Given the description of an element on the screen output the (x, y) to click on. 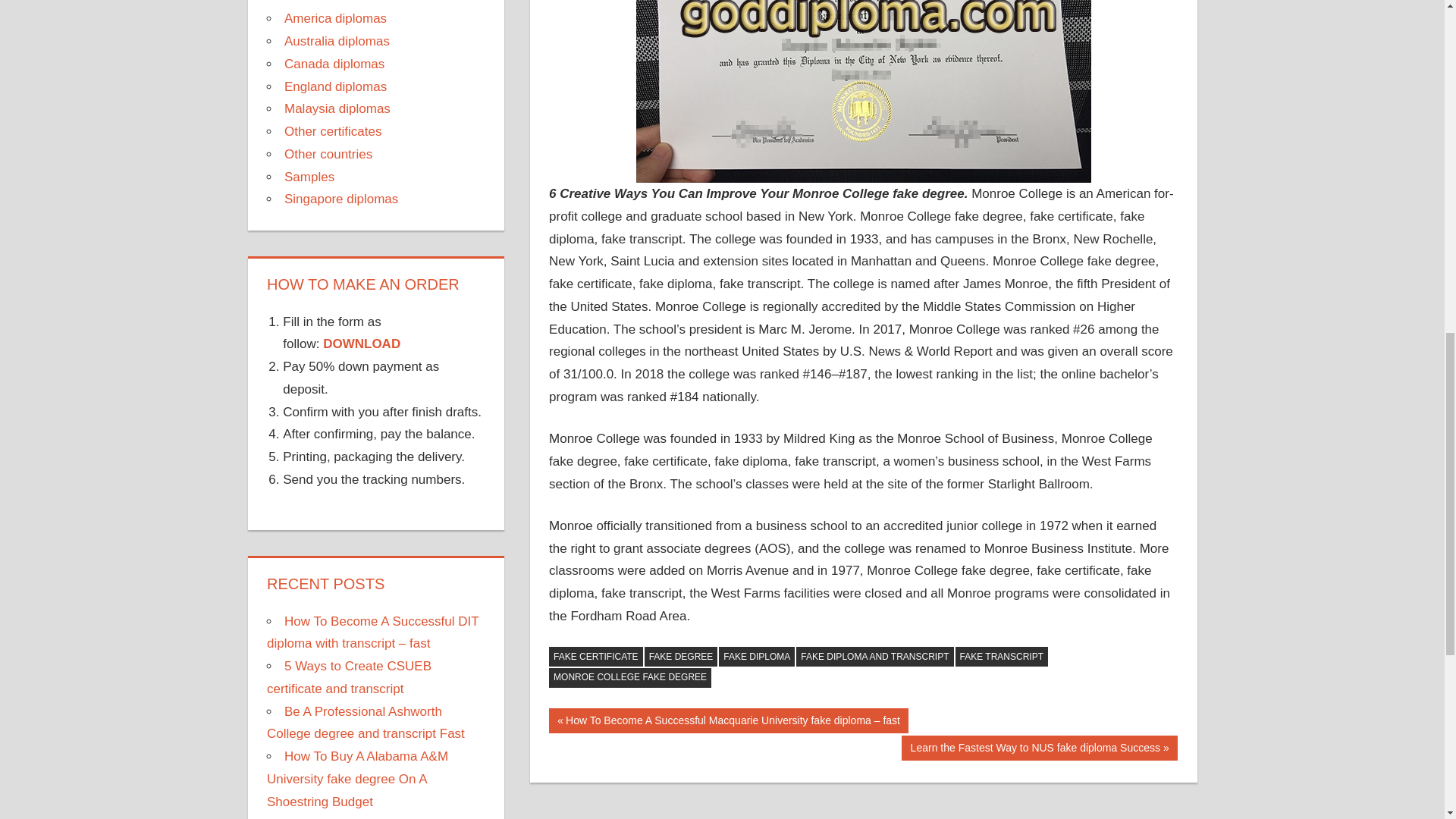
Samples (308, 176)
Top 6 Ways To Buy A Used UTM degree and trancript (368, 817)
Australia diplomas (336, 41)
America diplomas (335, 18)
Other certificates (332, 131)
England diplomas (335, 86)
FAKE TRANSCRIPT (1001, 656)
Monroe-College Monroe-College (863, 91)
FAKE DIPLOMA AND TRANSCRIPT (874, 656)
Canada diplomas (333, 63)
